Given the description of an element on the screen output the (x, y) to click on. 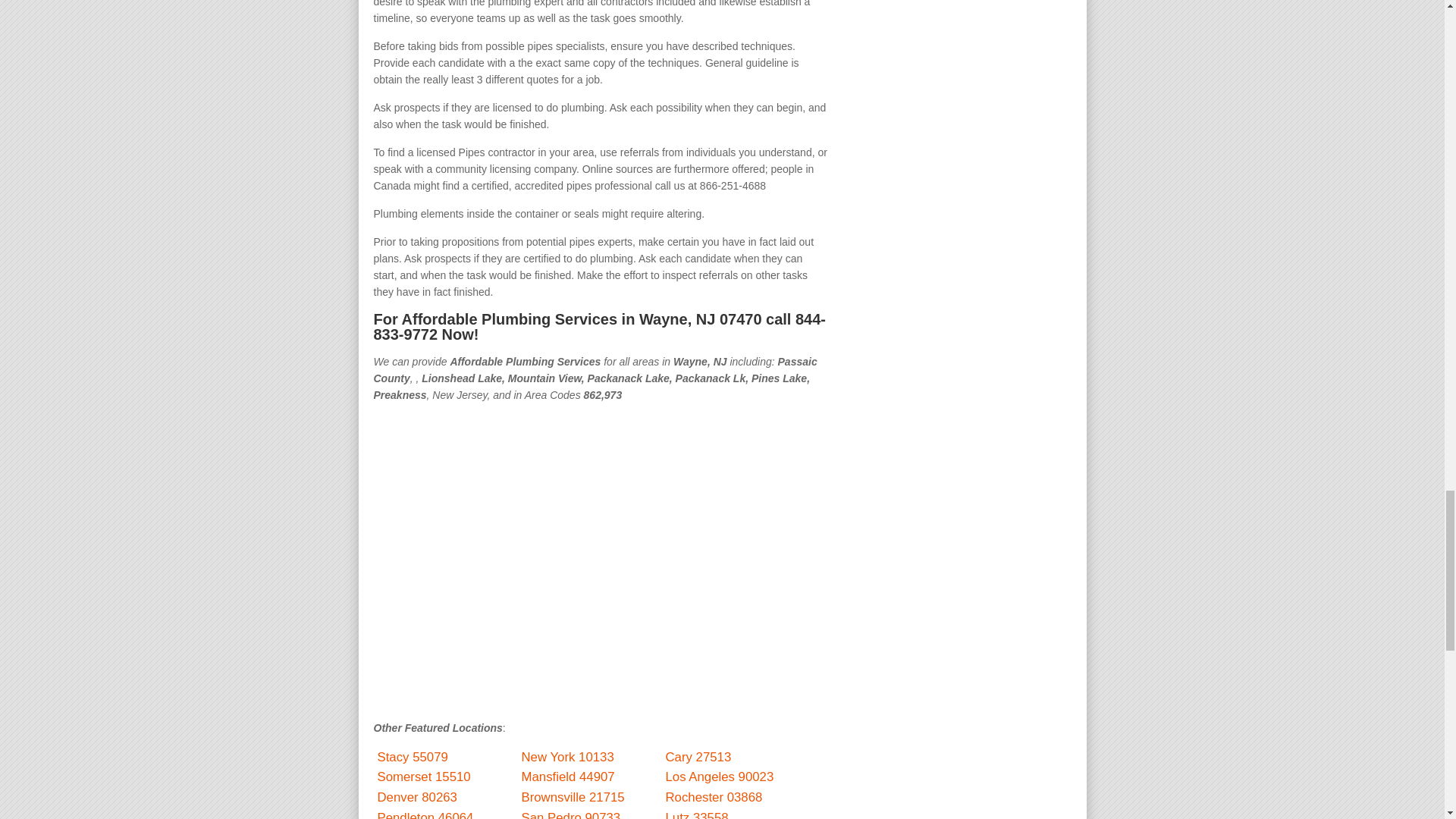
Stacy 55079 (412, 756)
Lutz 33558 (697, 814)
New York 10133 (567, 756)
Rochester 03868 (713, 797)
Los Angeles 90023 (719, 776)
Mansfield 44907 (567, 776)
Cary 27513 (698, 756)
Somerset 15510 (423, 776)
San Pedro 90733 (571, 814)
